Given the description of an element on the screen output the (x, y) to click on. 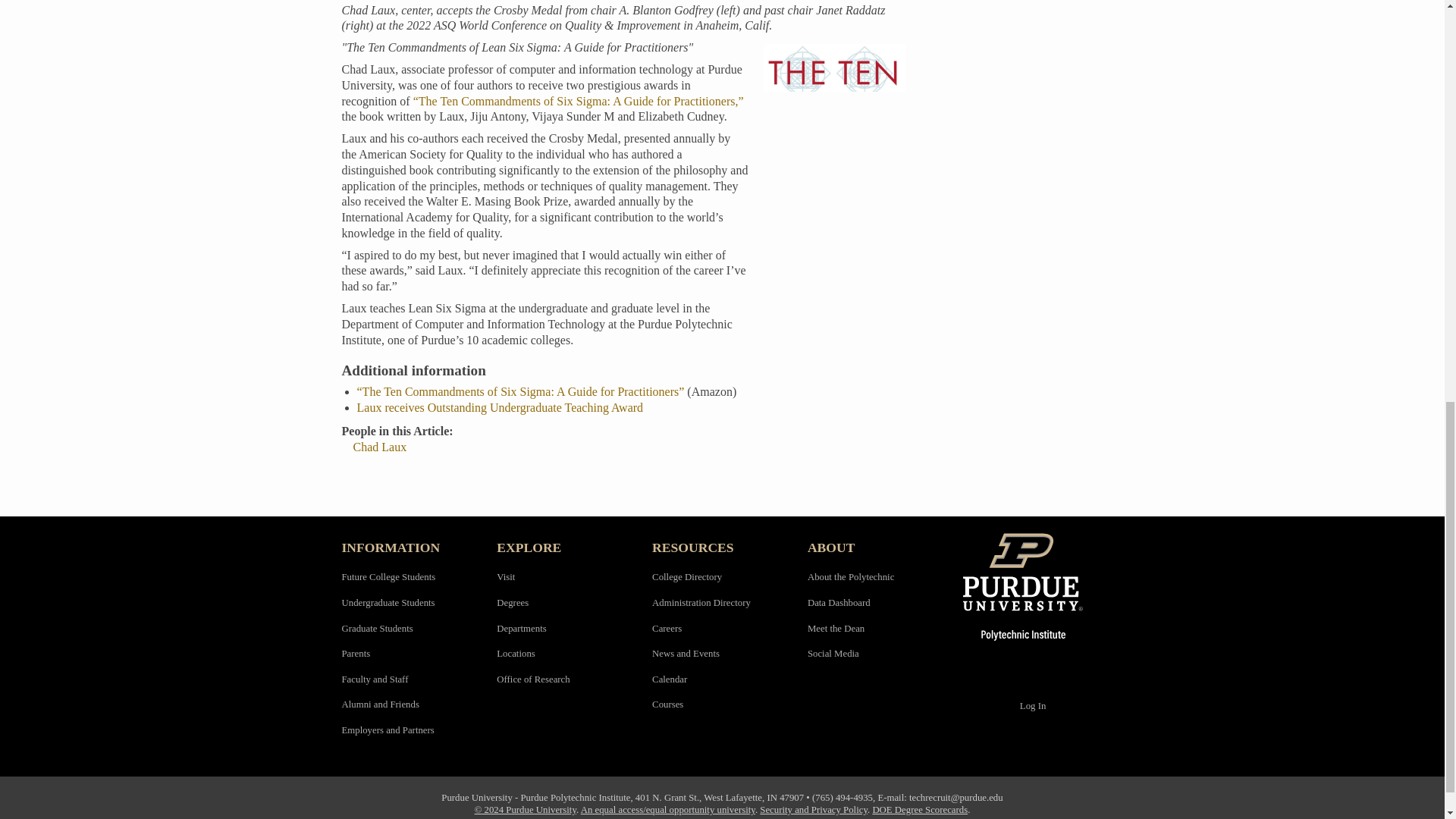
Purdue Polytechnic Institute (1032, 586)
Laux receives Outstanding Undergraduate Teaching Award (499, 407)
Undergraduate Students (386, 602)
Graduate Students (376, 628)
Chad Laux (380, 446)
Future College Students (387, 576)
